Given the description of an element on the screen output the (x, y) to click on. 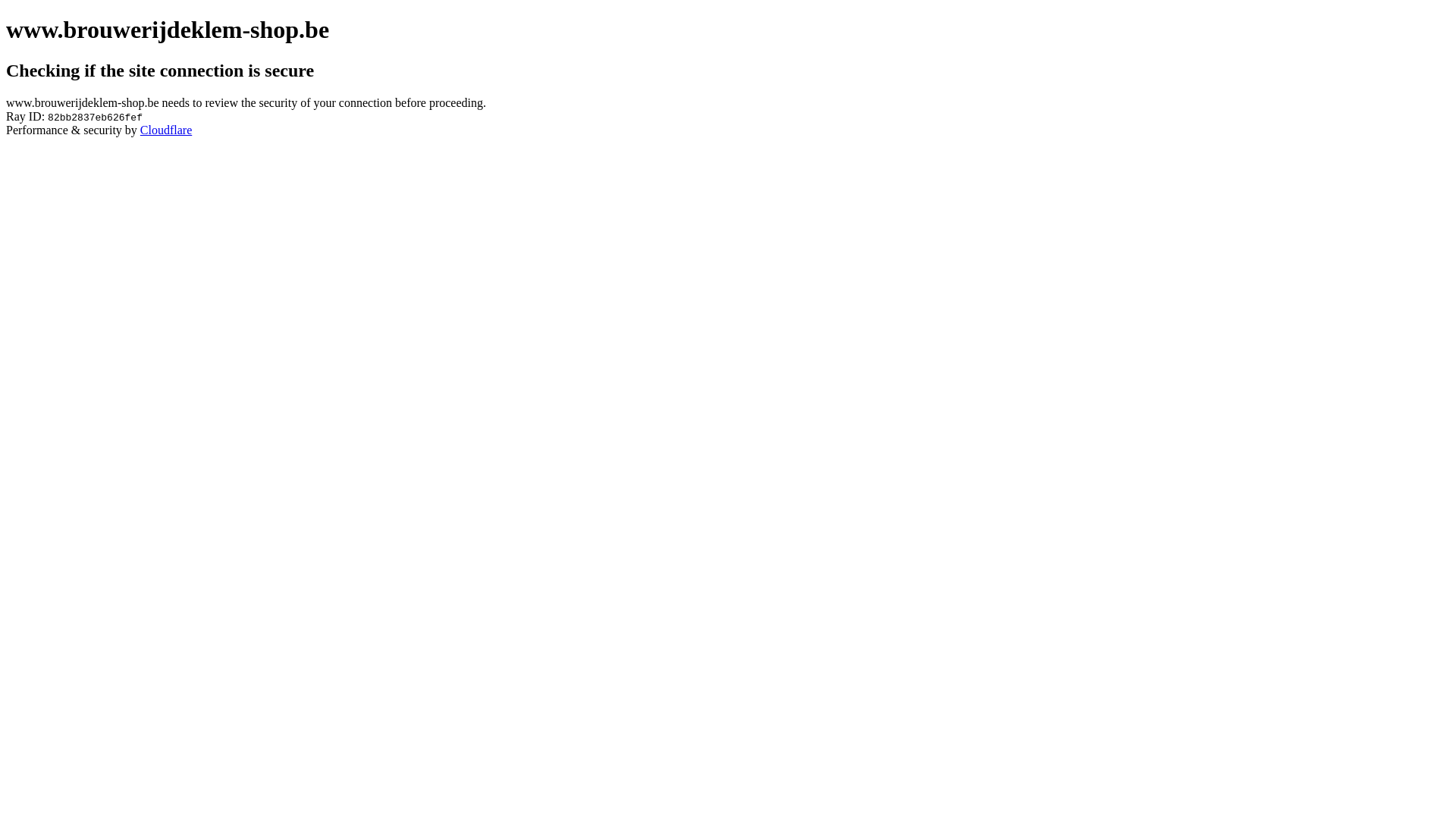
Cloudflare Element type: text (165, 129)
